Given the description of an element on the screen output the (x, y) to click on. 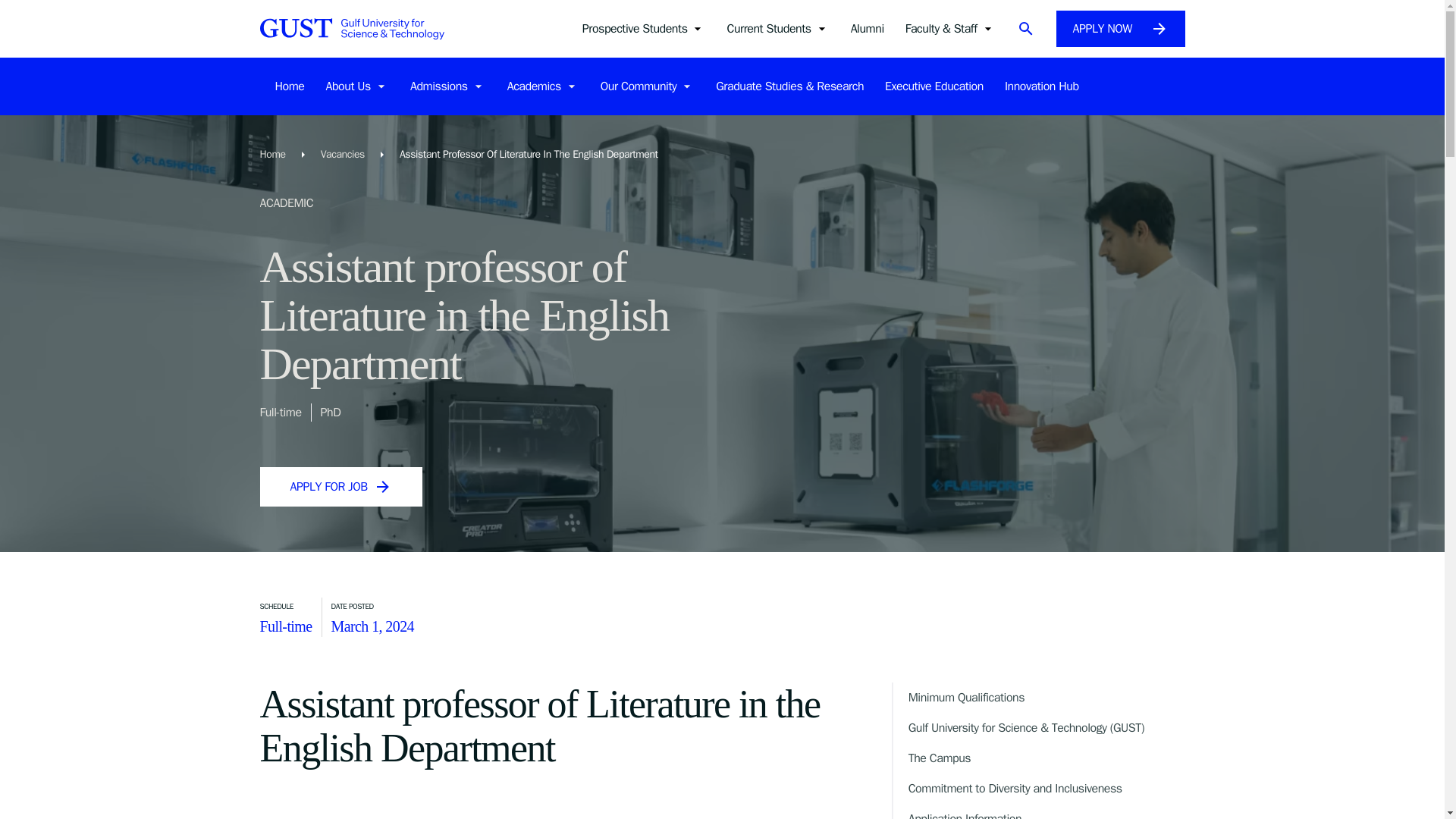
Current Students (777, 28)
Prospective Students (644, 28)
About Us (357, 86)
Alumni (866, 28)
APPLY NOW (1120, 28)
